Given the description of an element on the screen output the (x, y) to click on. 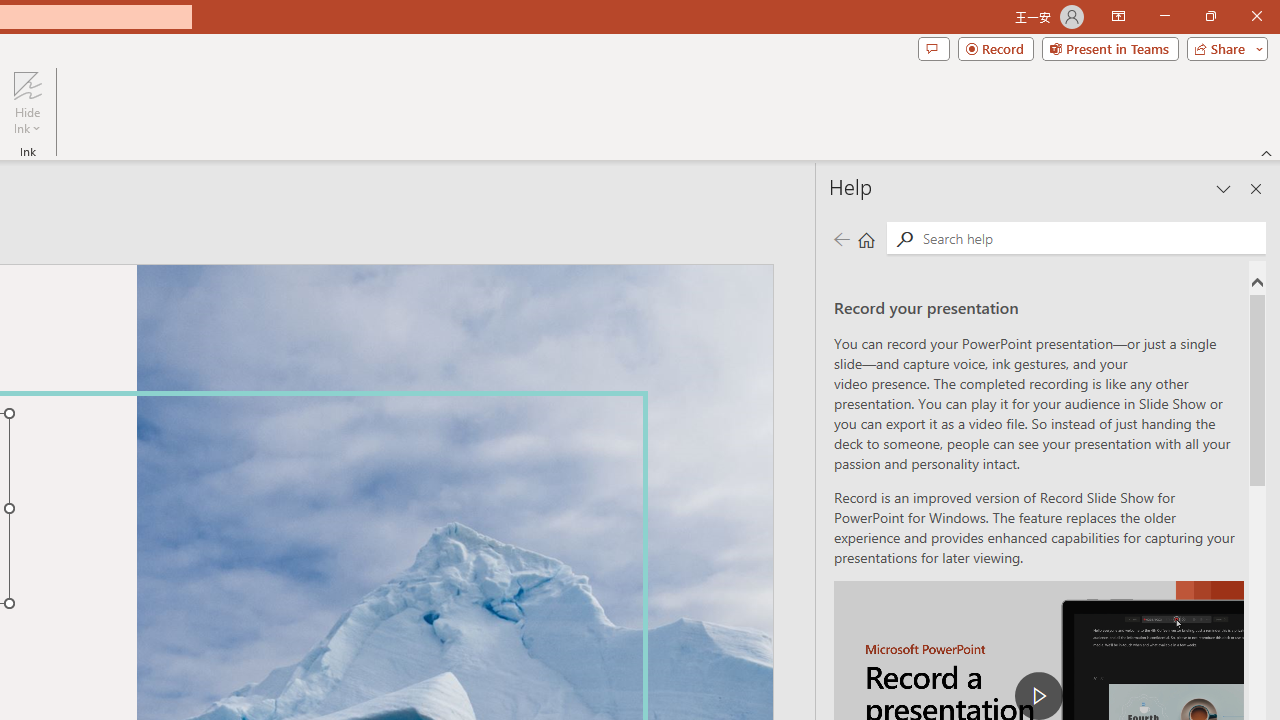
play Record a Presentation (1038, 695)
Previous page (841, 238)
